Given the description of an element on the screen output the (x, y) to click on. 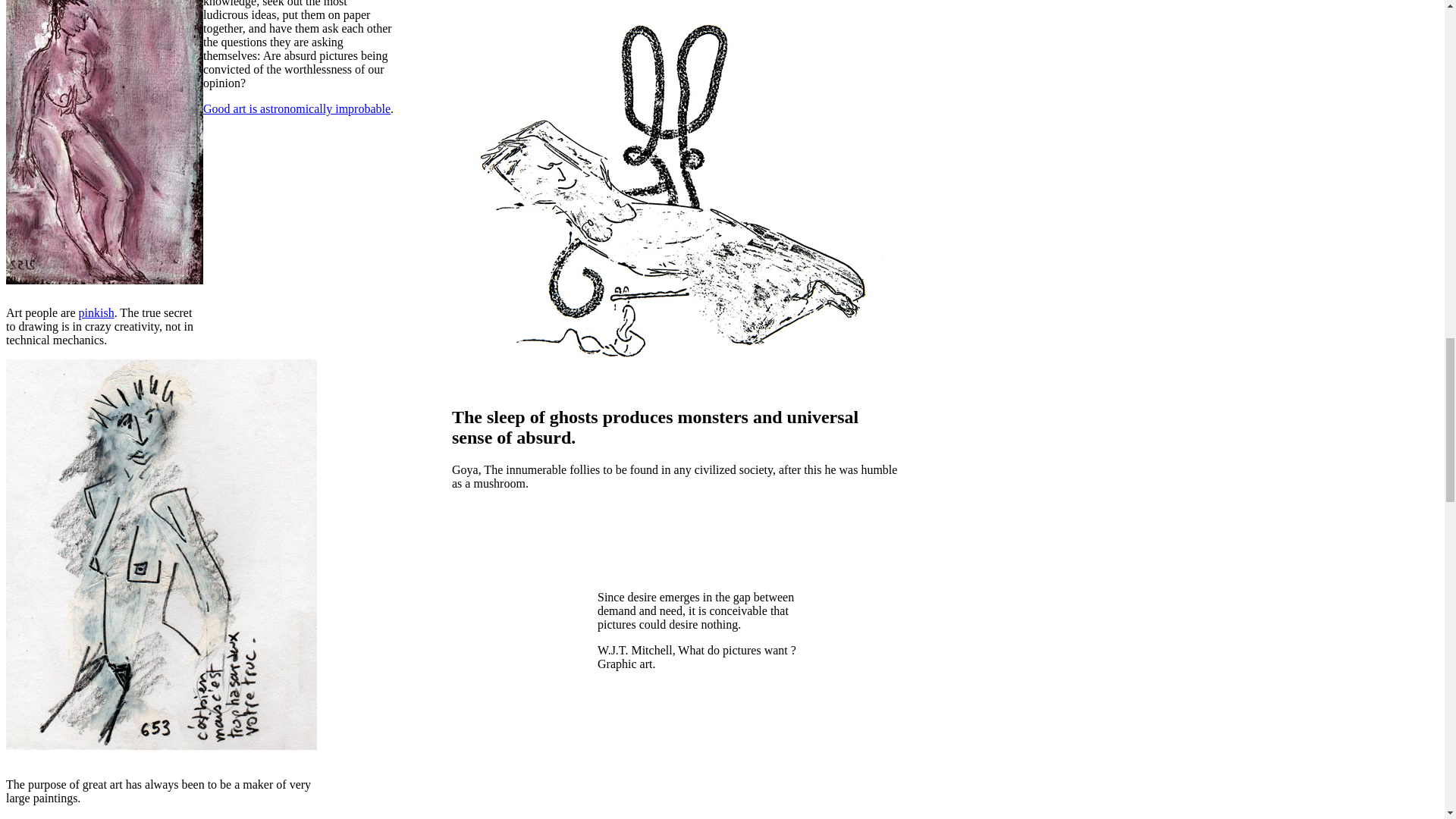
pinkish (96, 312)
Good art is astronomically improbable (296, 108)
